Given the description of an element on the screen output the (x, y) to click on. 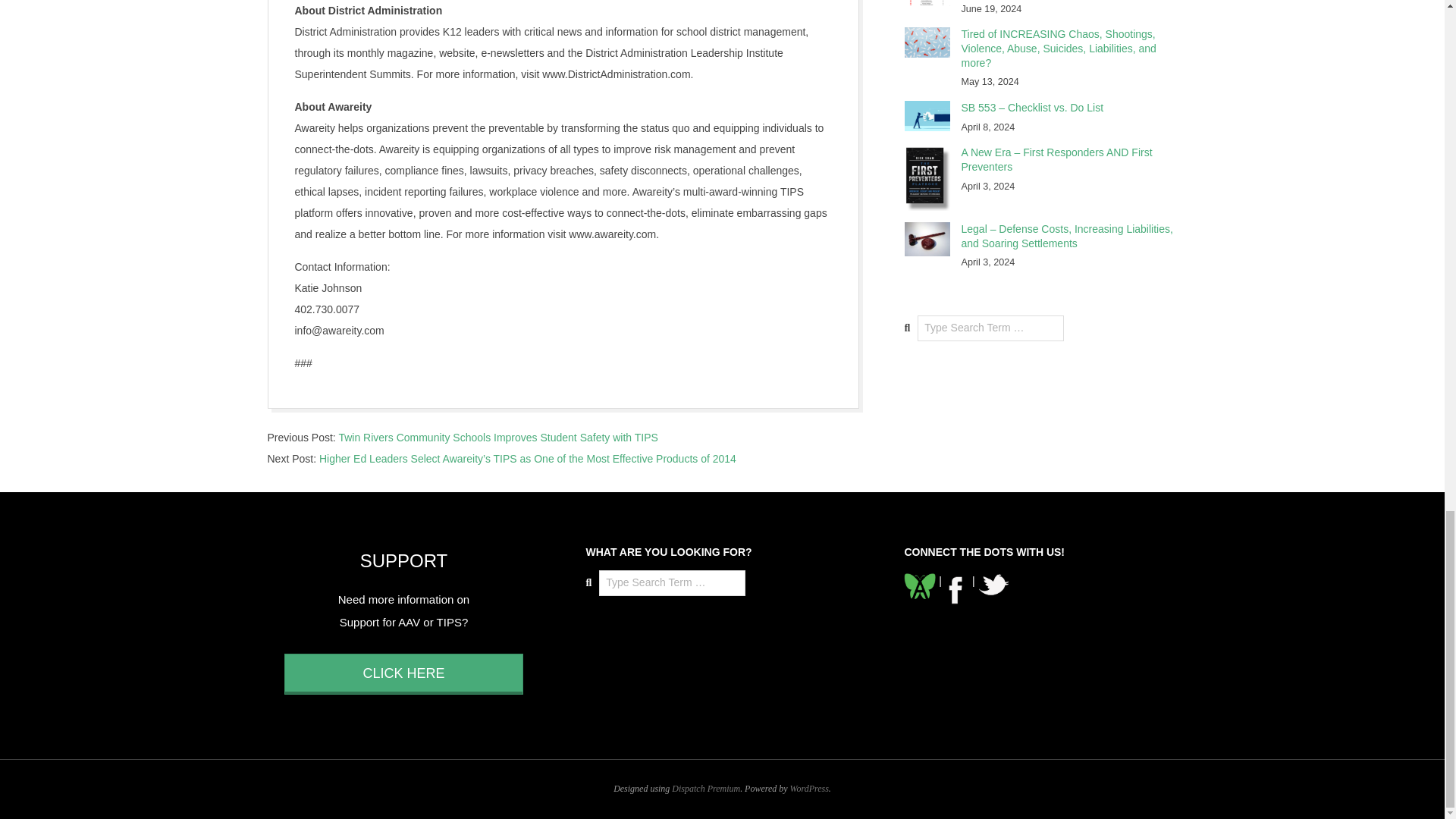
Dispatch Premium WordPress Theme (705, 787)
State-of-the-art semantic personal publishing platform (809, 787)
